Given the description of an element on the screen output the (x, y) to click on. 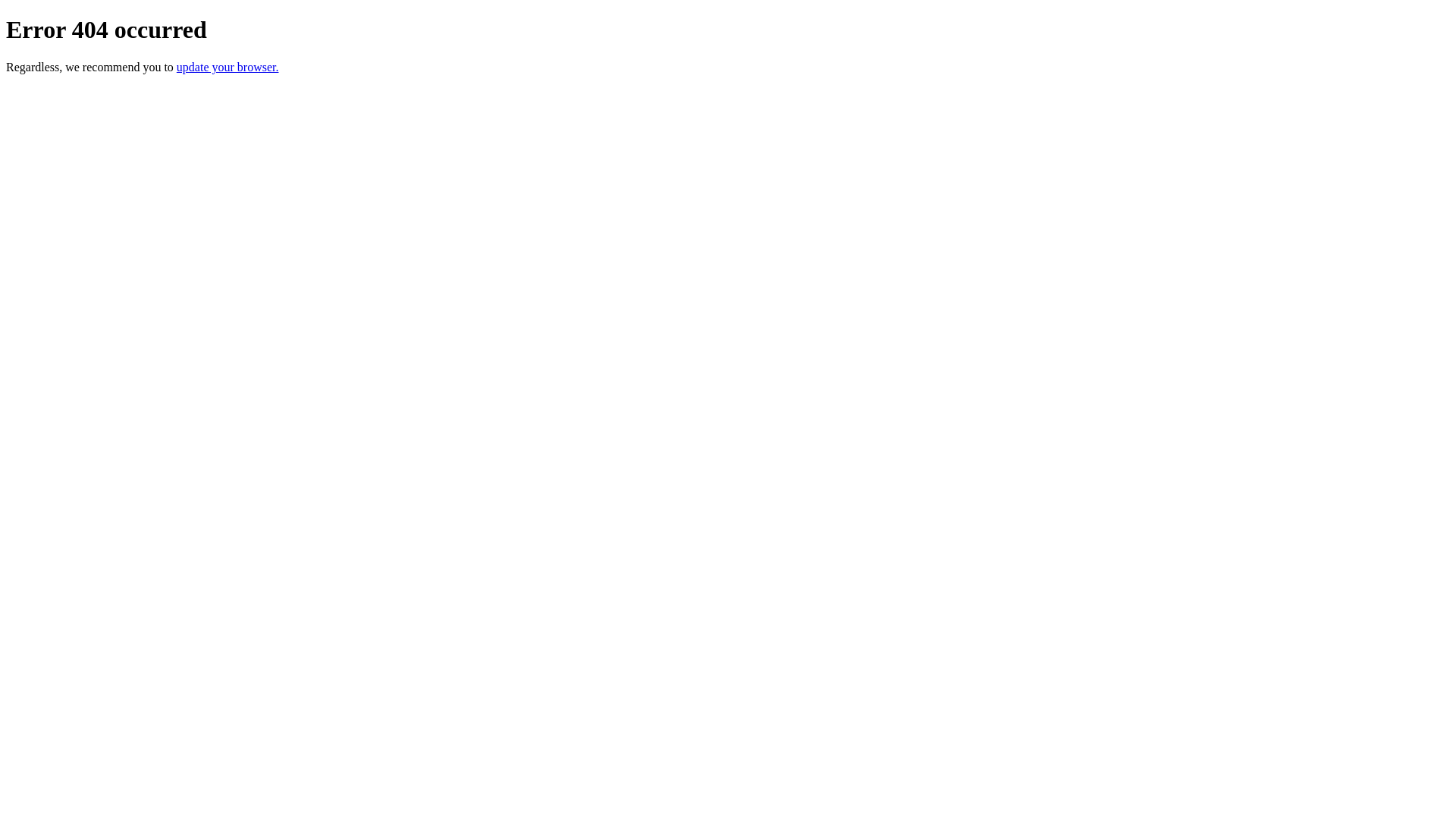
update your browser. Element type: text (227, 66)
